Given the description of an element on the screen output the (x, y) to click on. 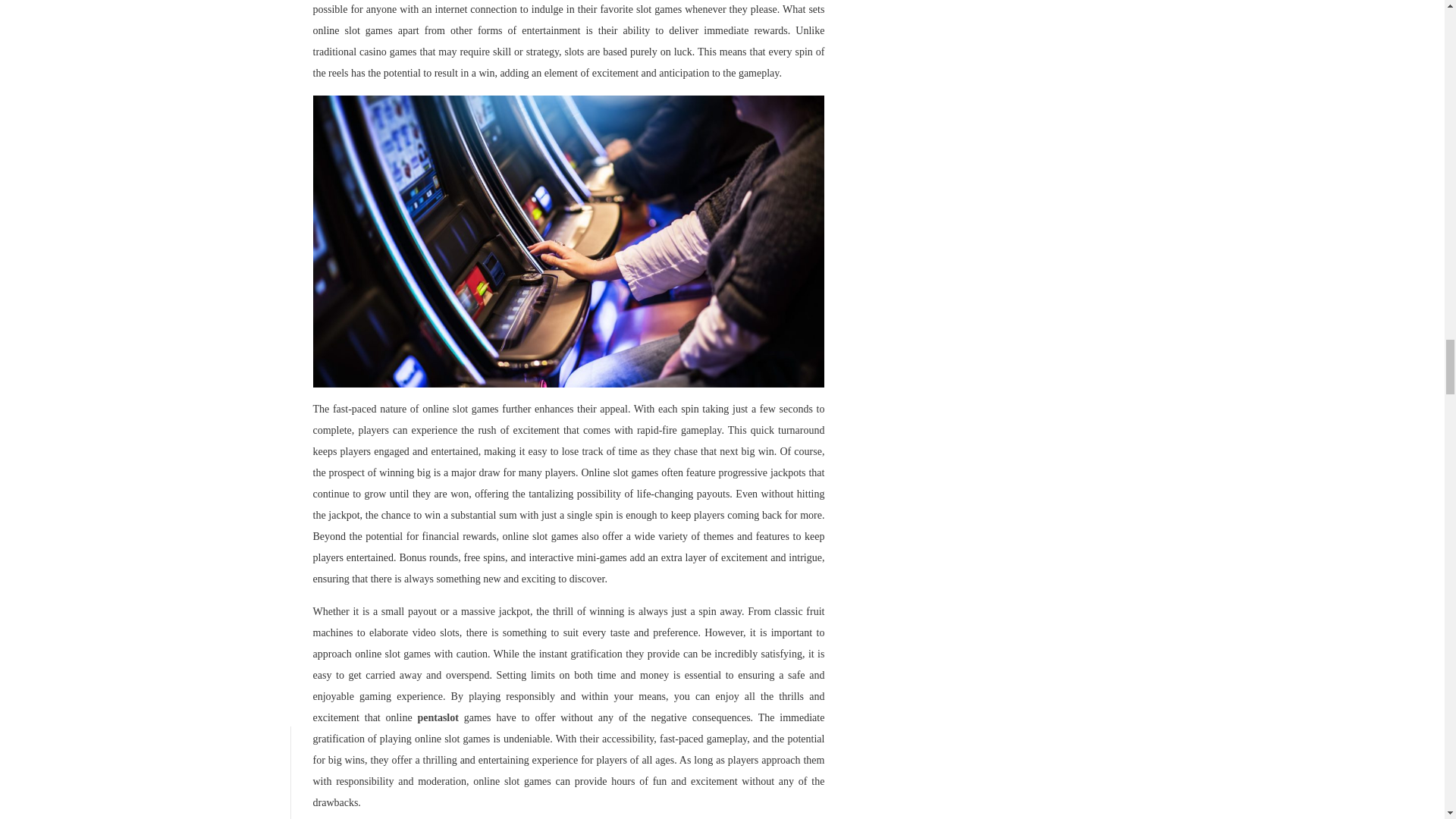
pentaslot (437, 717)
